Given the description of an element on the screen output the (x, y) to click on. 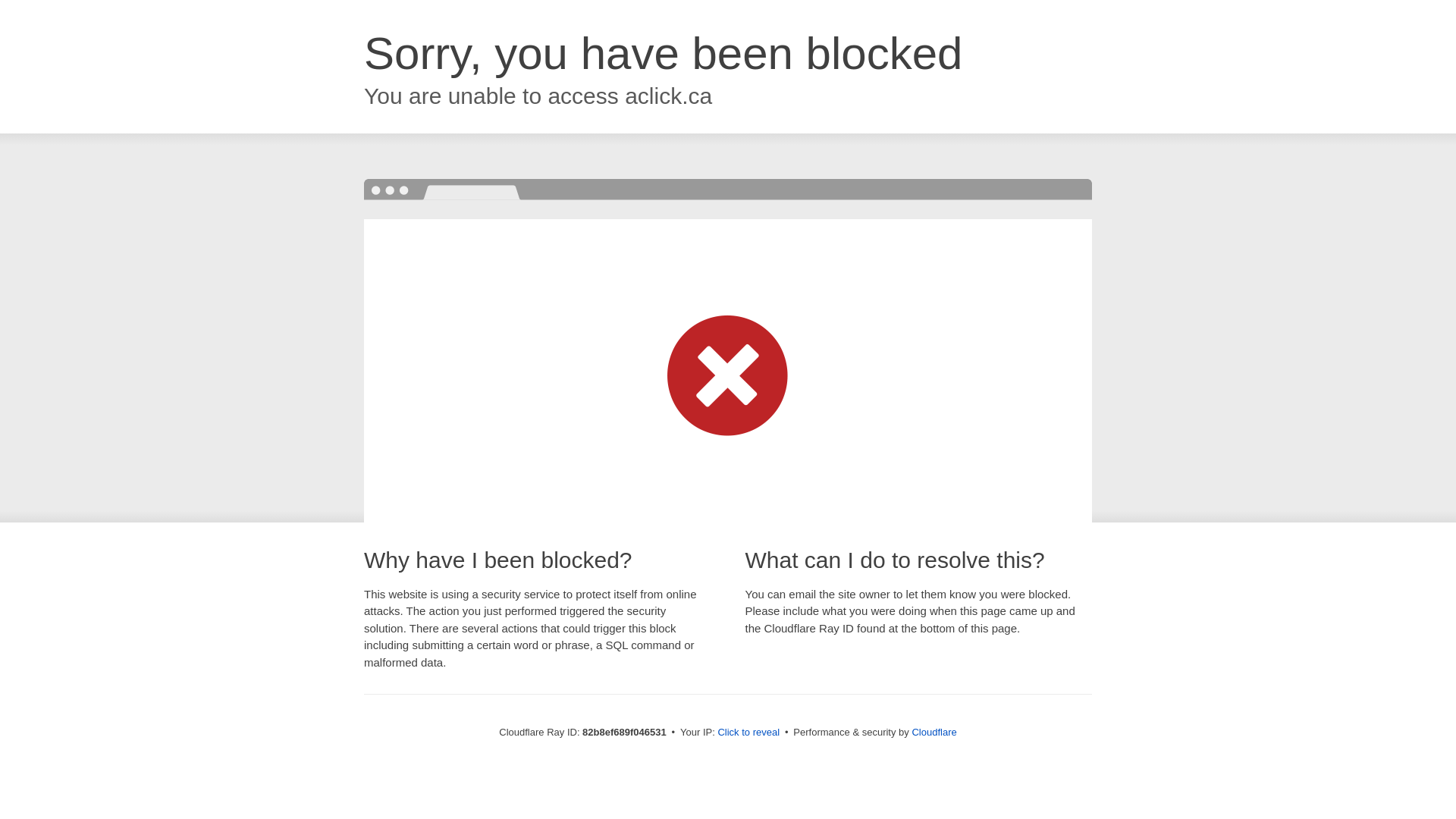
Click to reveal Element type: text (748, 732)
Cloudflare Element type: text (933, 731)
